Given the description of an element on the screen output the (x, y) to click on. 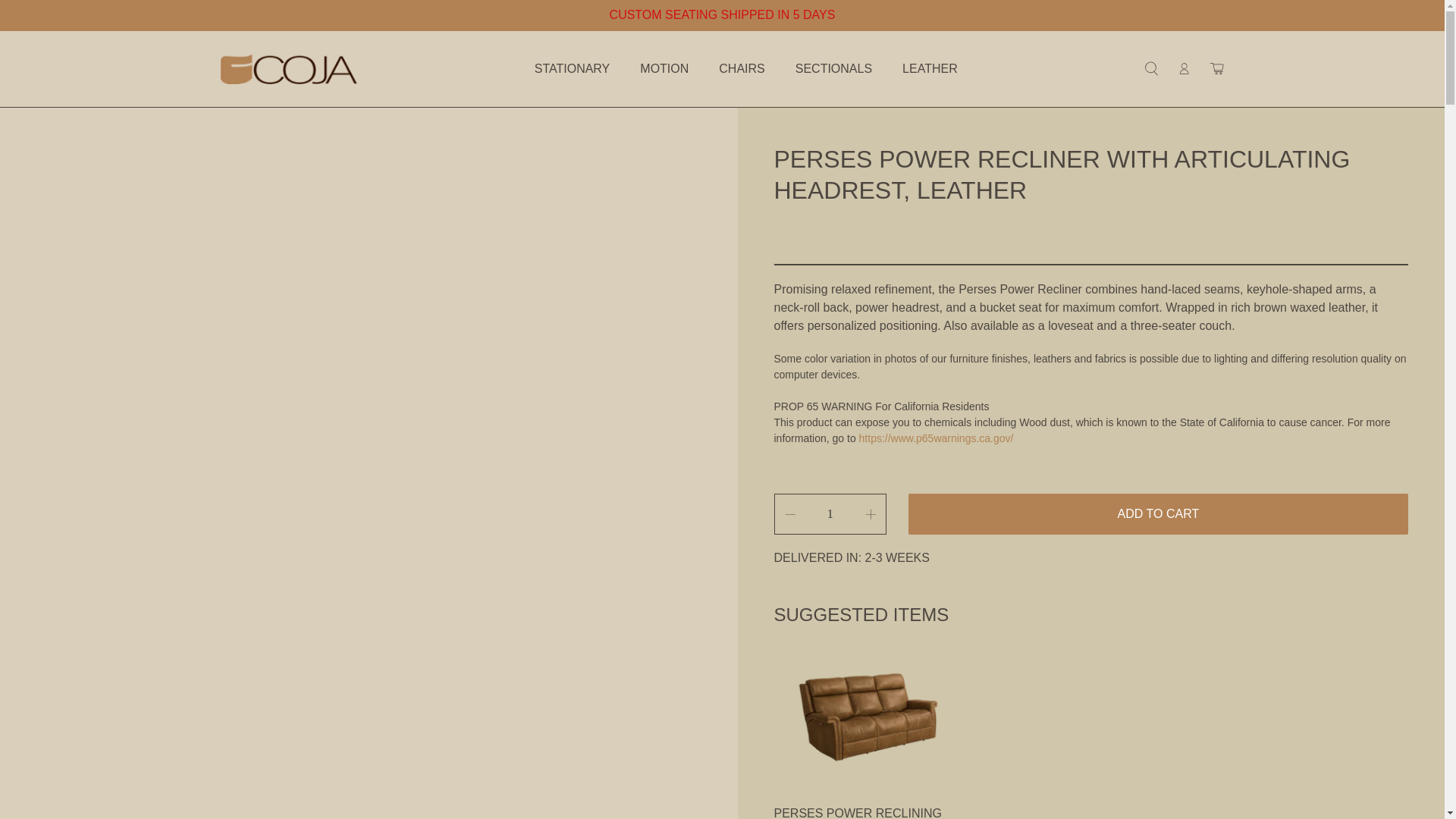
Coja (287, 69)
CHAIRS (741, 68)
MOTION (664, 68)
SECTIONALS (833, 68)
STATIONARY (572, 68)
LEATHER (930, 68)
1 (829, 513)
